Given the description of an element on the screen output the (x, y) to click on. 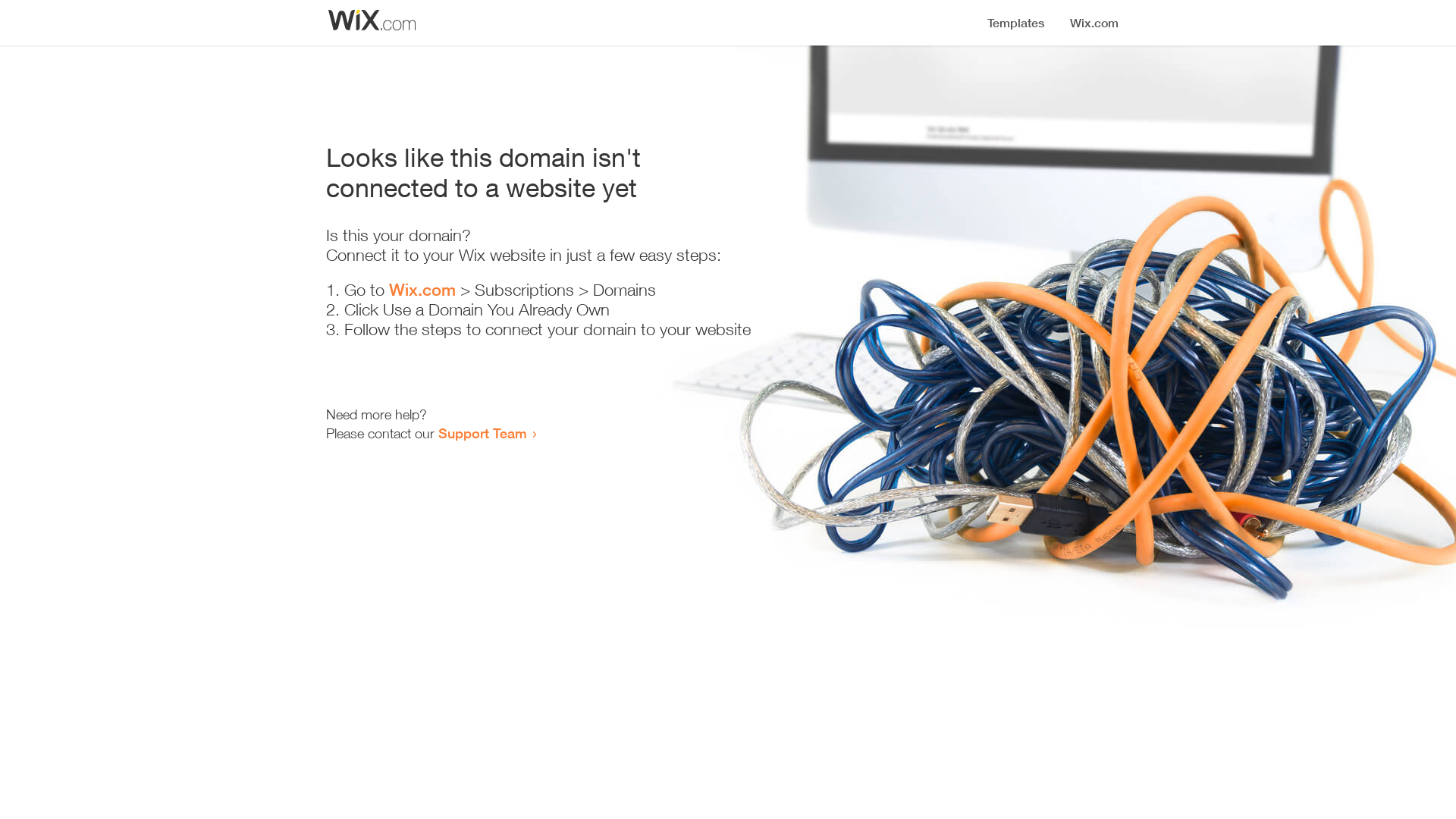
Wix.com Element type: text (422, 289)
Support Team Element type: text (482, 432)
